Given the description of an element on the screen output the (x, y) to click on. 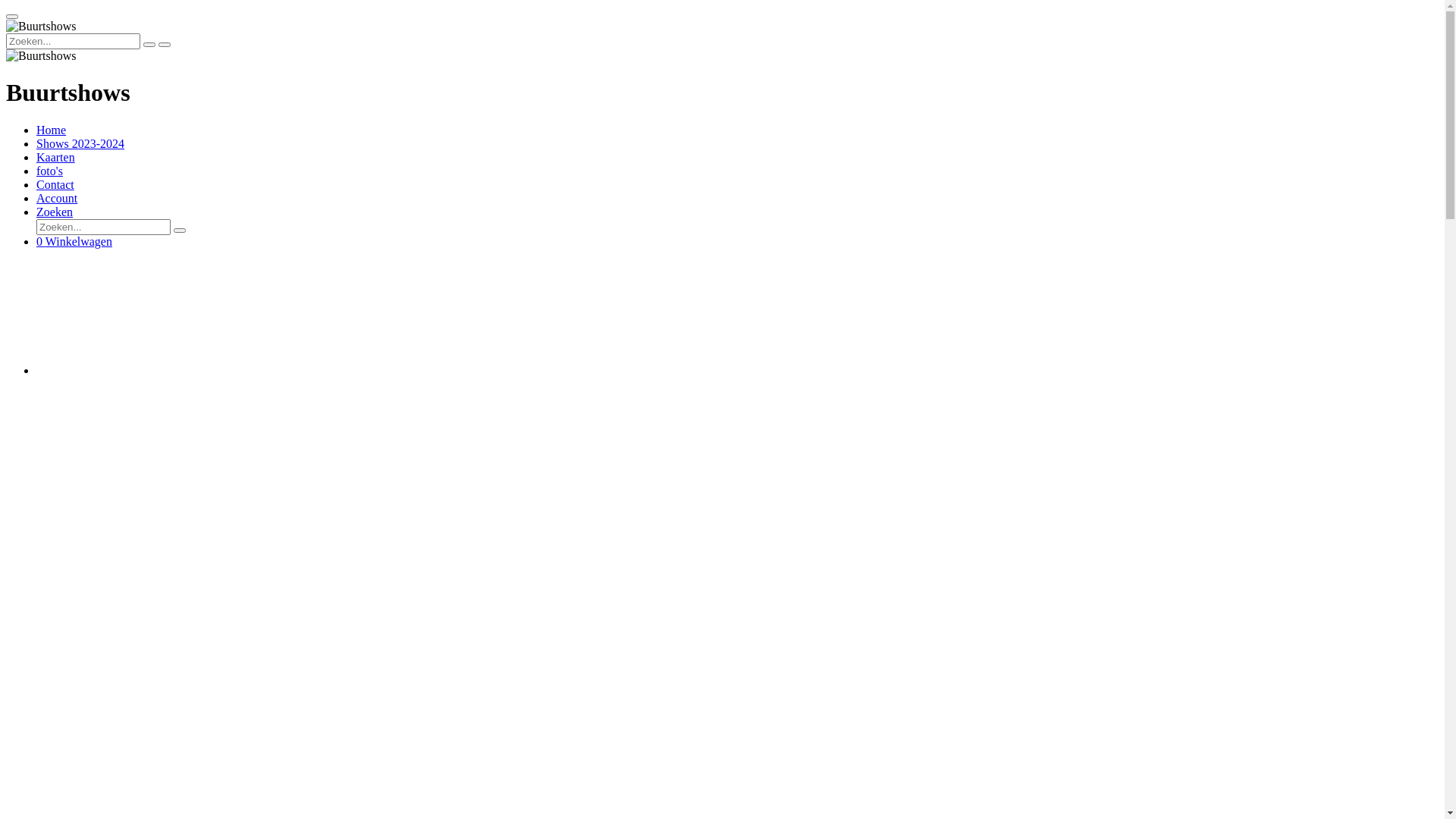
Contact Element type: text (55, 184)
Shows 2023-2024 Element type: text (80, 143)
Zoeken Element type: text (54, 211)
Buurtshows Element type: hover (40, 55)
foto's Element type: text (49, 170)
Buurtshows Element type: hover (40, 26)
Home Element type: text (50, 129)
0 Winkelwagen Element type: text (74, 241)
Kaarten Element type: text (55, 156)
Account Element type: text (56, 197)
